Given the description of an element on the screen output the (x, y) to click on. 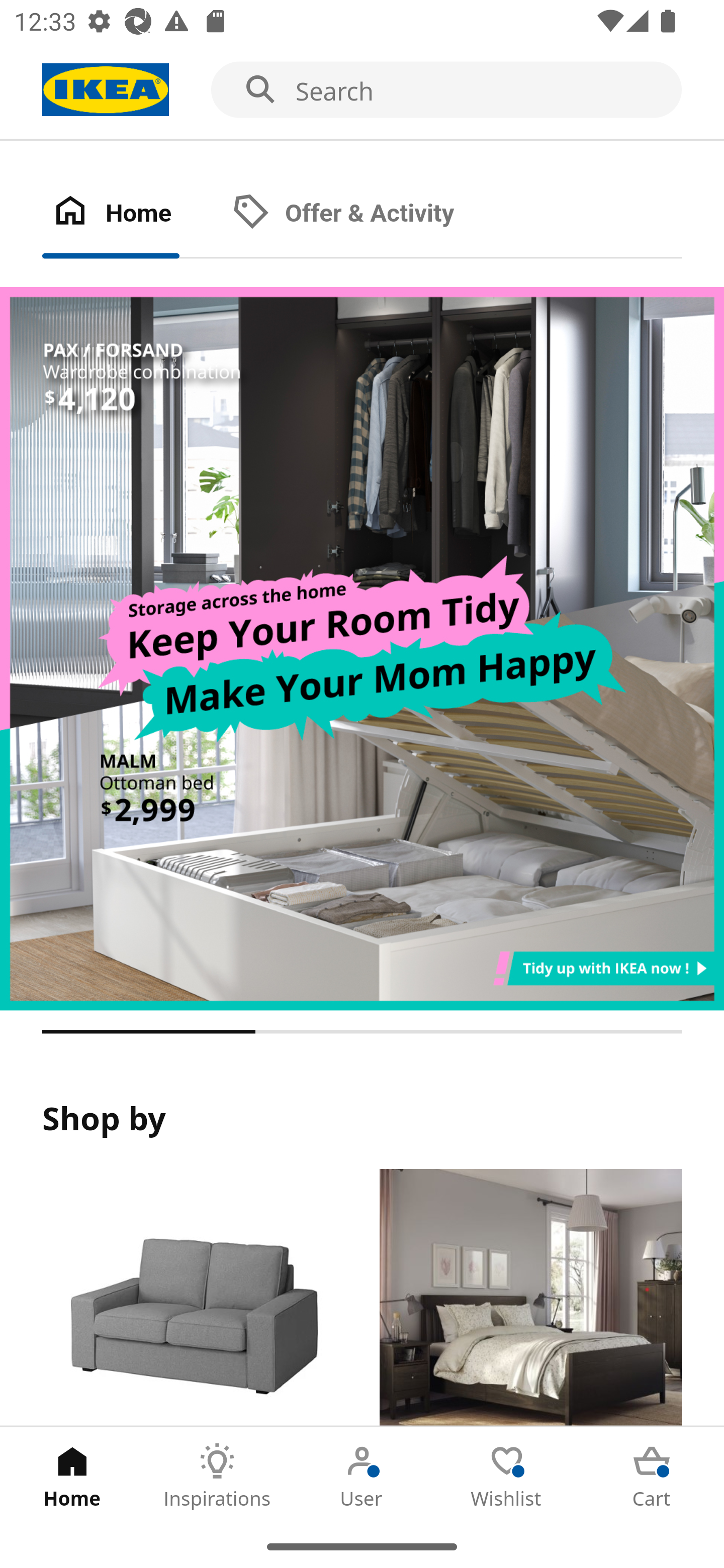
Search (361, 90)
Home
Tab 1 of 2 (131, 213)
Offer & Activity
Tab 2 of 2 (363, 213)
Products (192, 1297)
Rooms (530, 1297)
Home
Tab 1 of 5 (72, 1476)
Inspirations
Tab 2 of 5 (216, 1476)
User
Tab 3 of 5 (361, 1476)
Wishlist
Tab 4 of 5 (506, 1476)
Cart
Tab 5 of 5 (651, 1476)
